Given the description of an element on the screen output the (x, y) to click on. 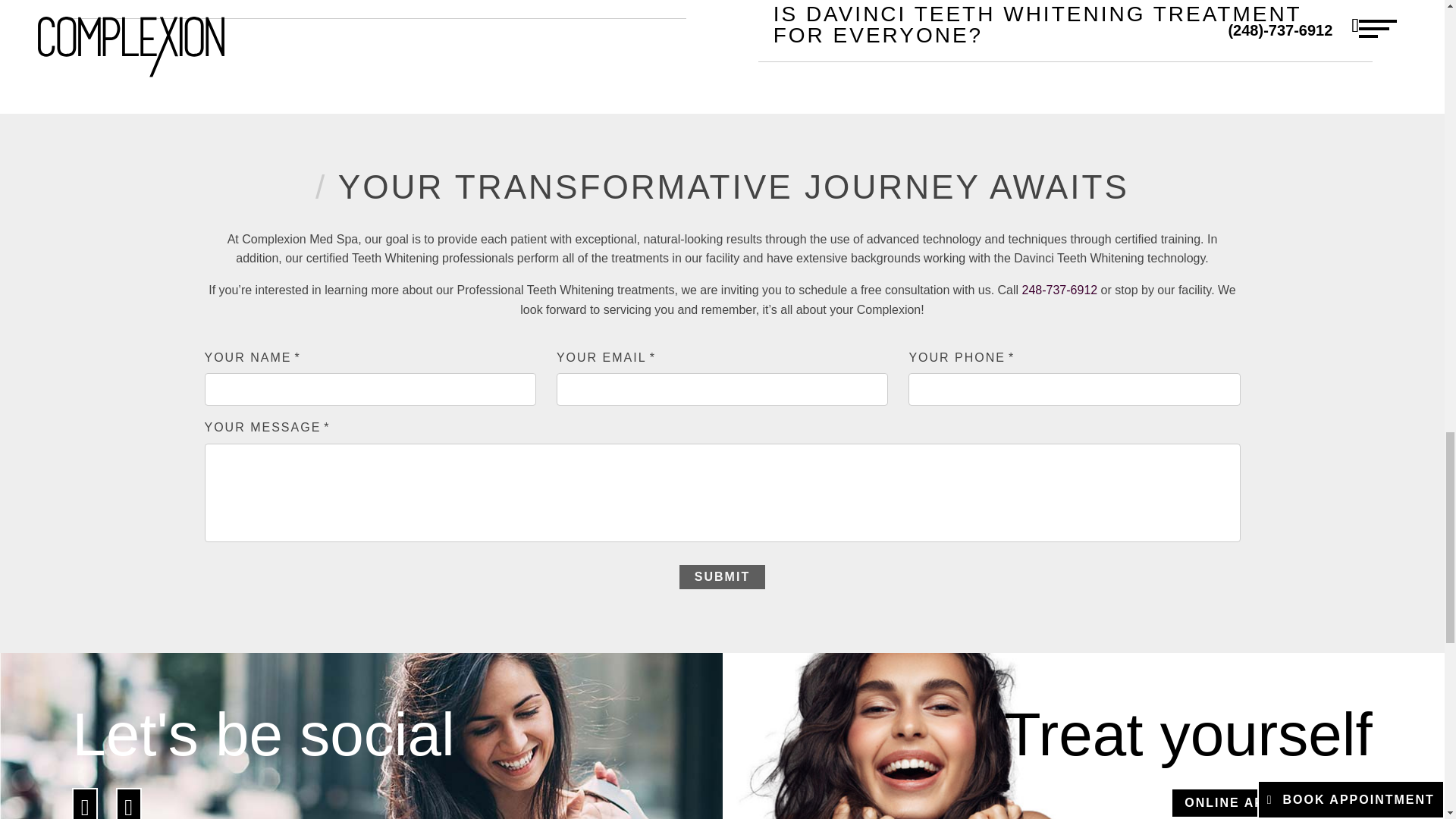
Teeth Whitining Header (128, 810)
Submit (722, 576)
Teeth Whitining Header (84, 810)
